Given the description of an element on the screen output the (x, y) to click on. 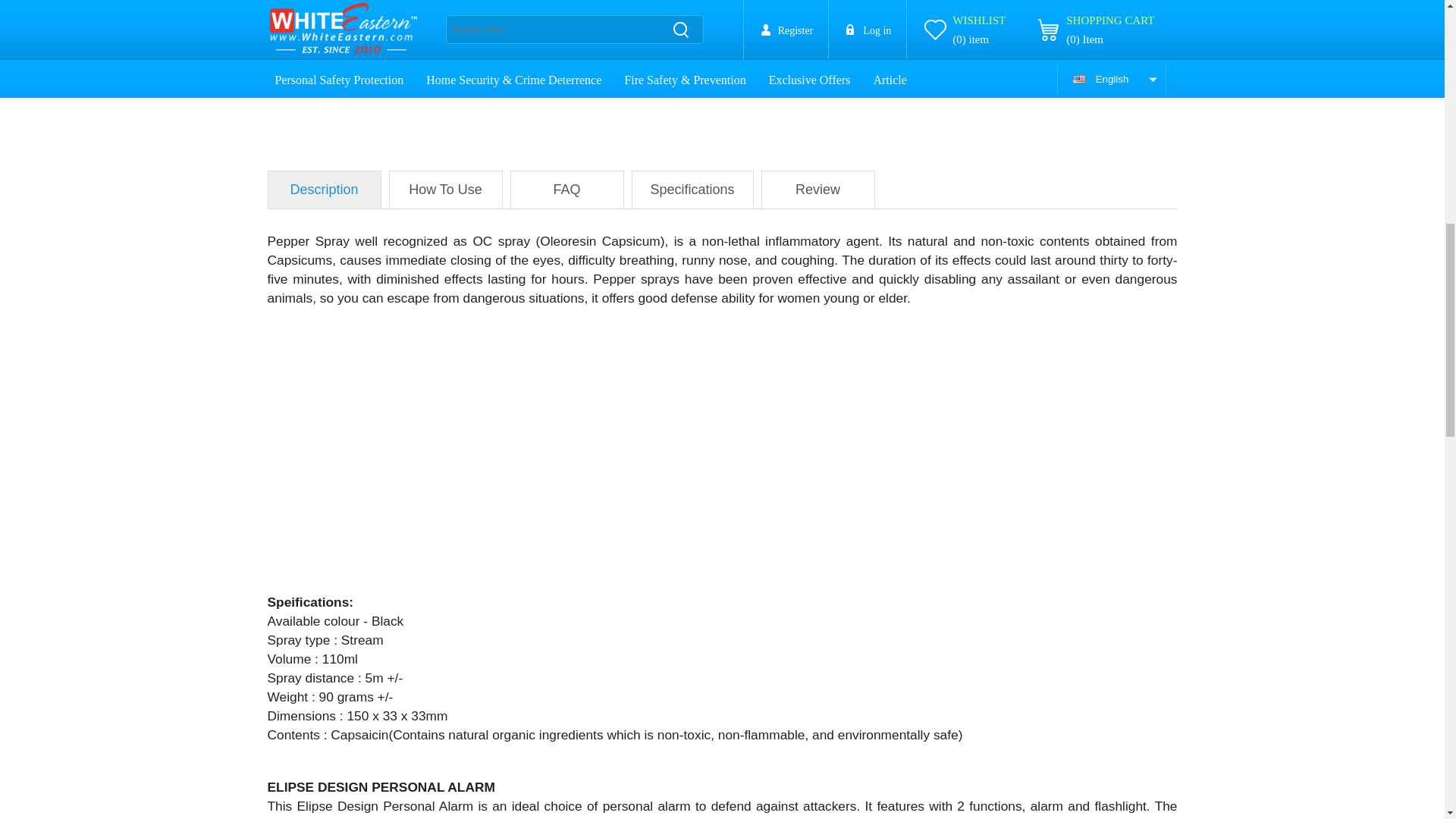
Add to compare list (882, 18)
Email a friend (1004, 18)
YouTube video player (478, 460)
Add to wishlist (760, 18)
